Given the description of an element on the screen output the (x, y) to click on. 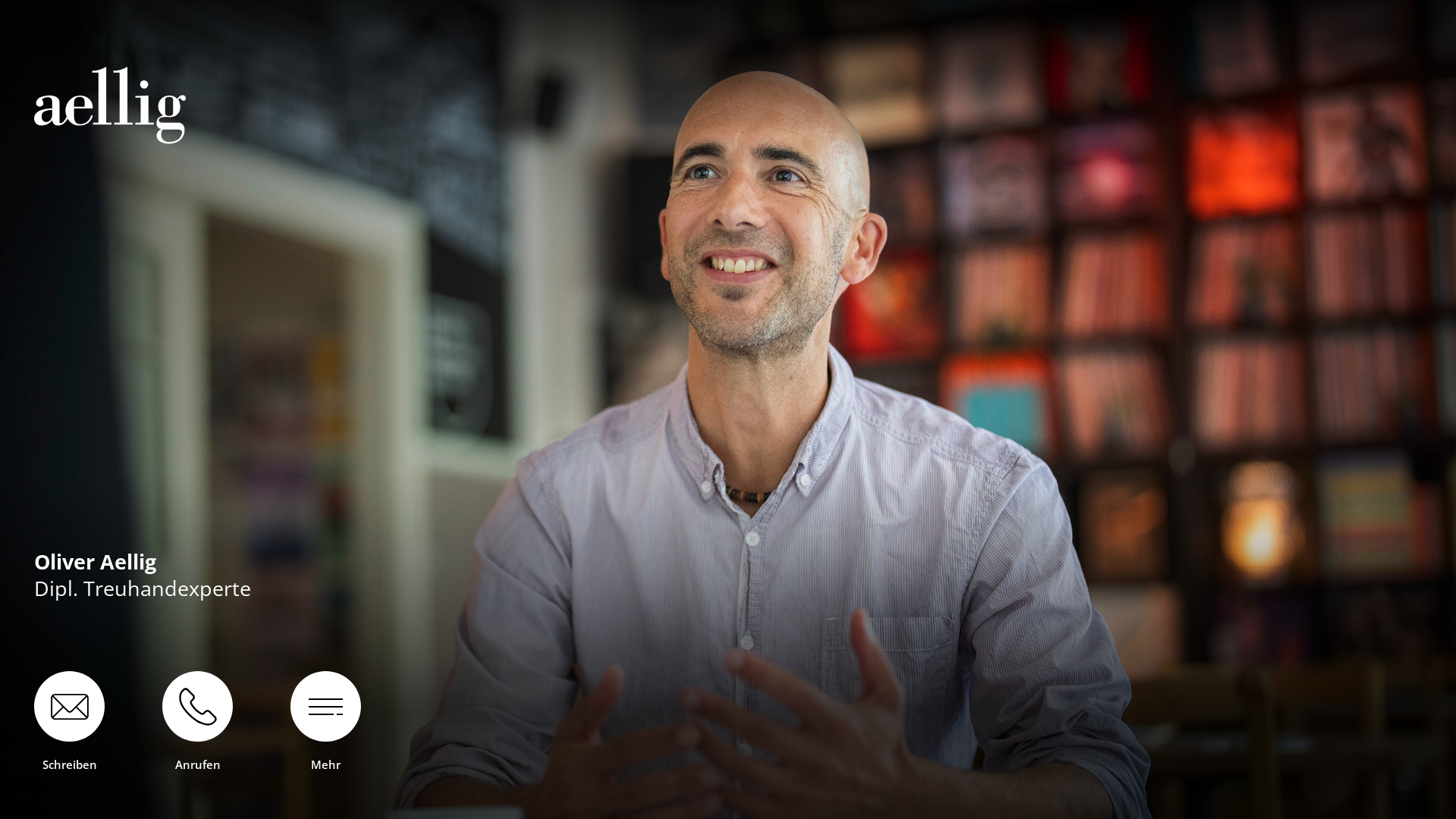
Schreiben Element type: text (69, 720)
Anrufen Element type: text (197, 720)
